Given the description of an element on the screen output the (x, y) to click on. 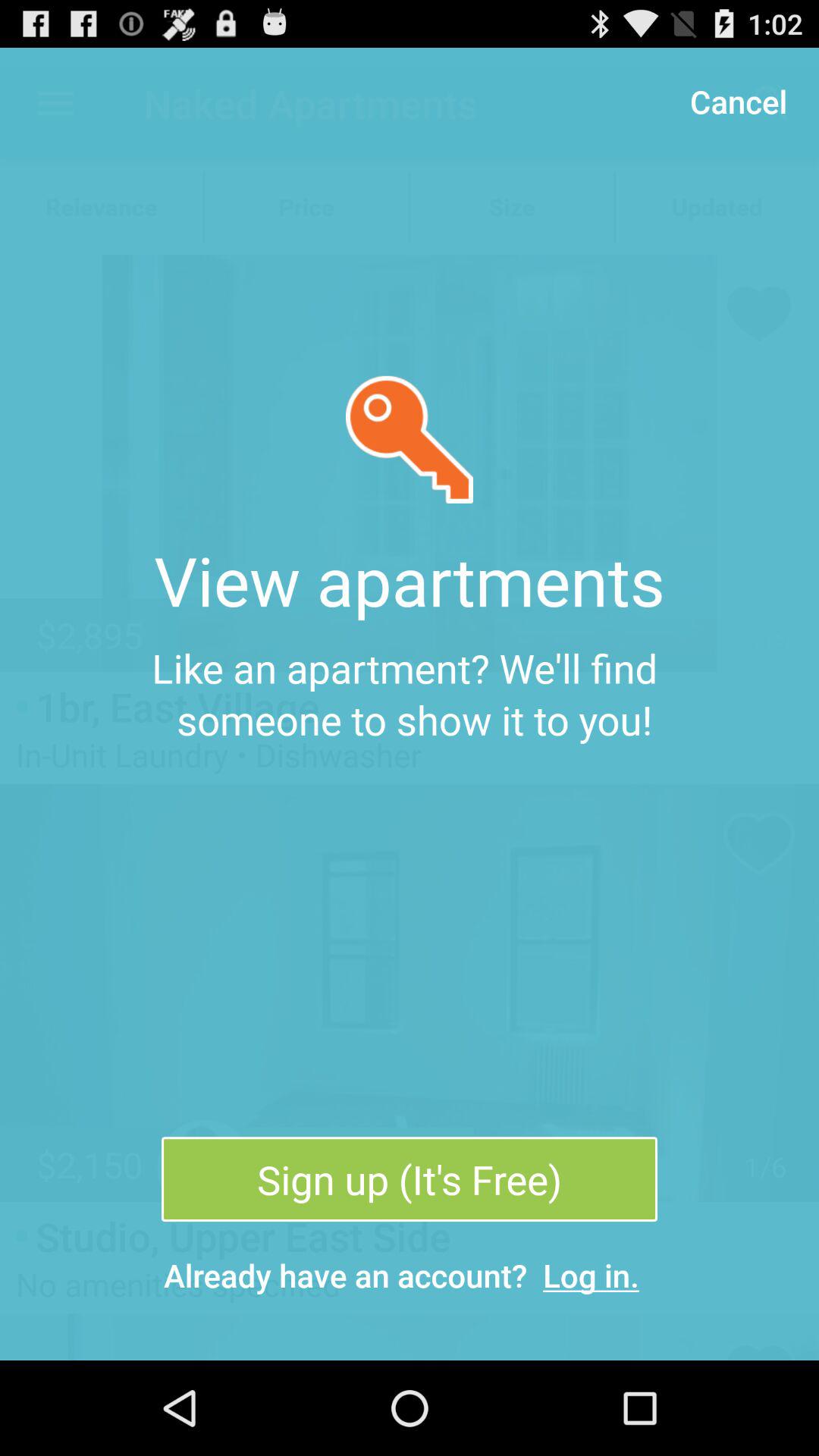
press icon below the like an apartment icon (409, 1178)
